Given the description of an element on the screen output the (x, y) to click on. 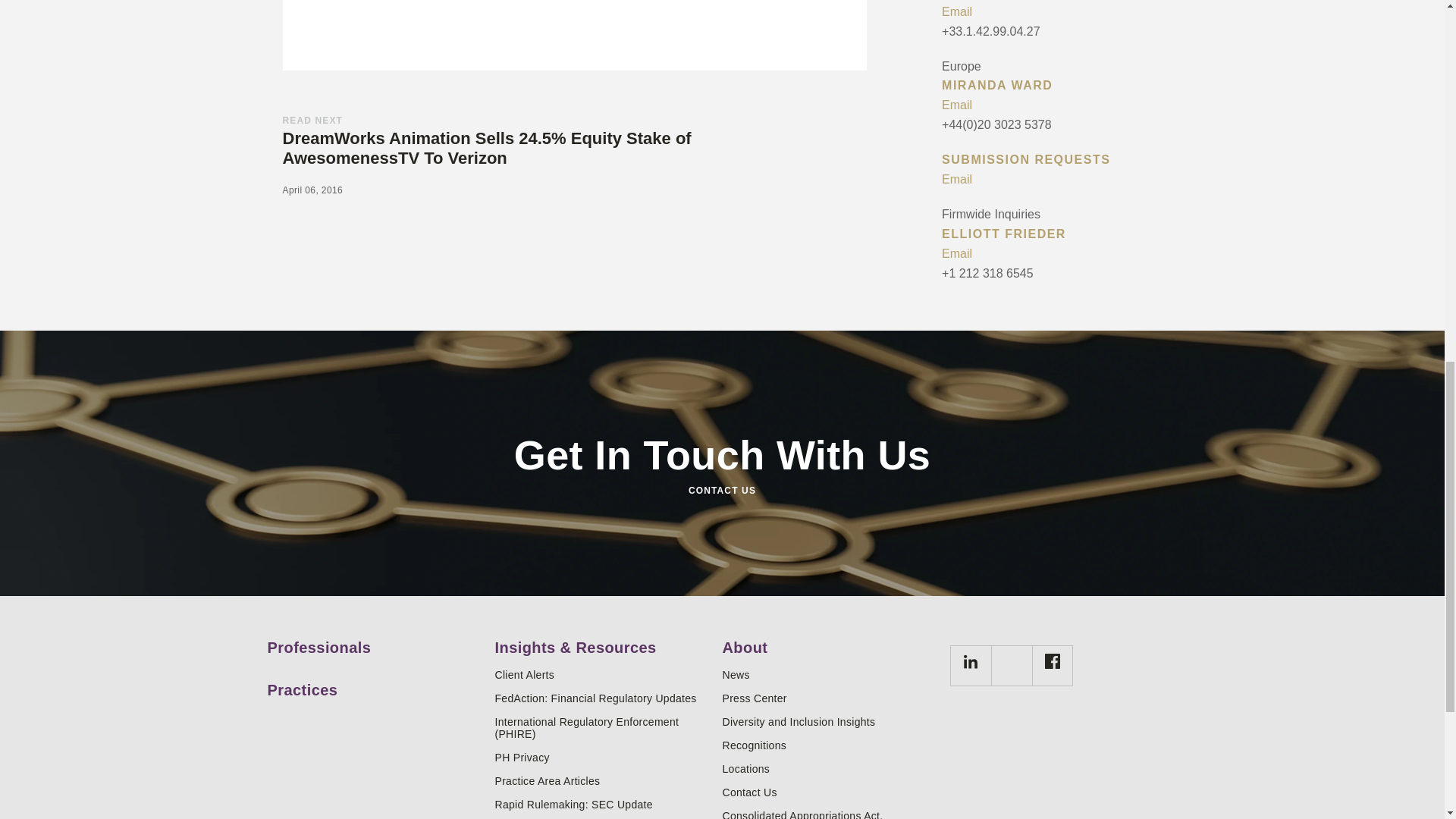
FedAction: Financial Regulatory Updates (602, 698)
Practices (374, 684)
Email (1059, 105)
Client Alerts (602, 674)
Email (1059, 12)
Professionals (374, 641)
Practice Area Articles (602, 780)
BC42128A-F0DE-4FE2-9372-6CDE6D4F5957Created with sketchtool. (1052, 661)
PH Privacy (602, 757)
Rapid Rulemaking: SEC Update (602, 804)
